Given the description of an element on the screen output the (x, y) to click on. 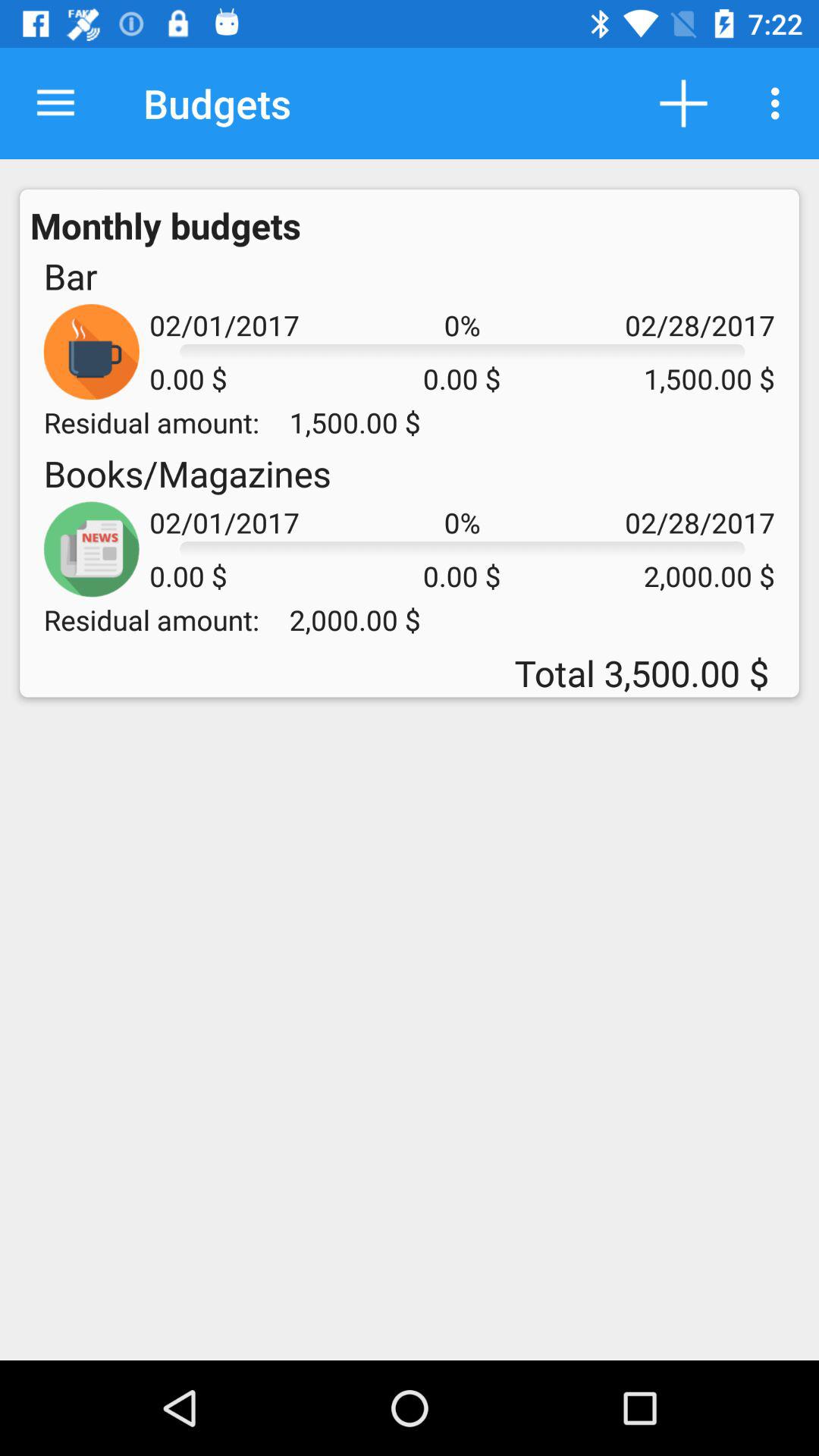
scroll to bar (70, 275)
